Given the description of an element on the screen output the (x, y) to click on. 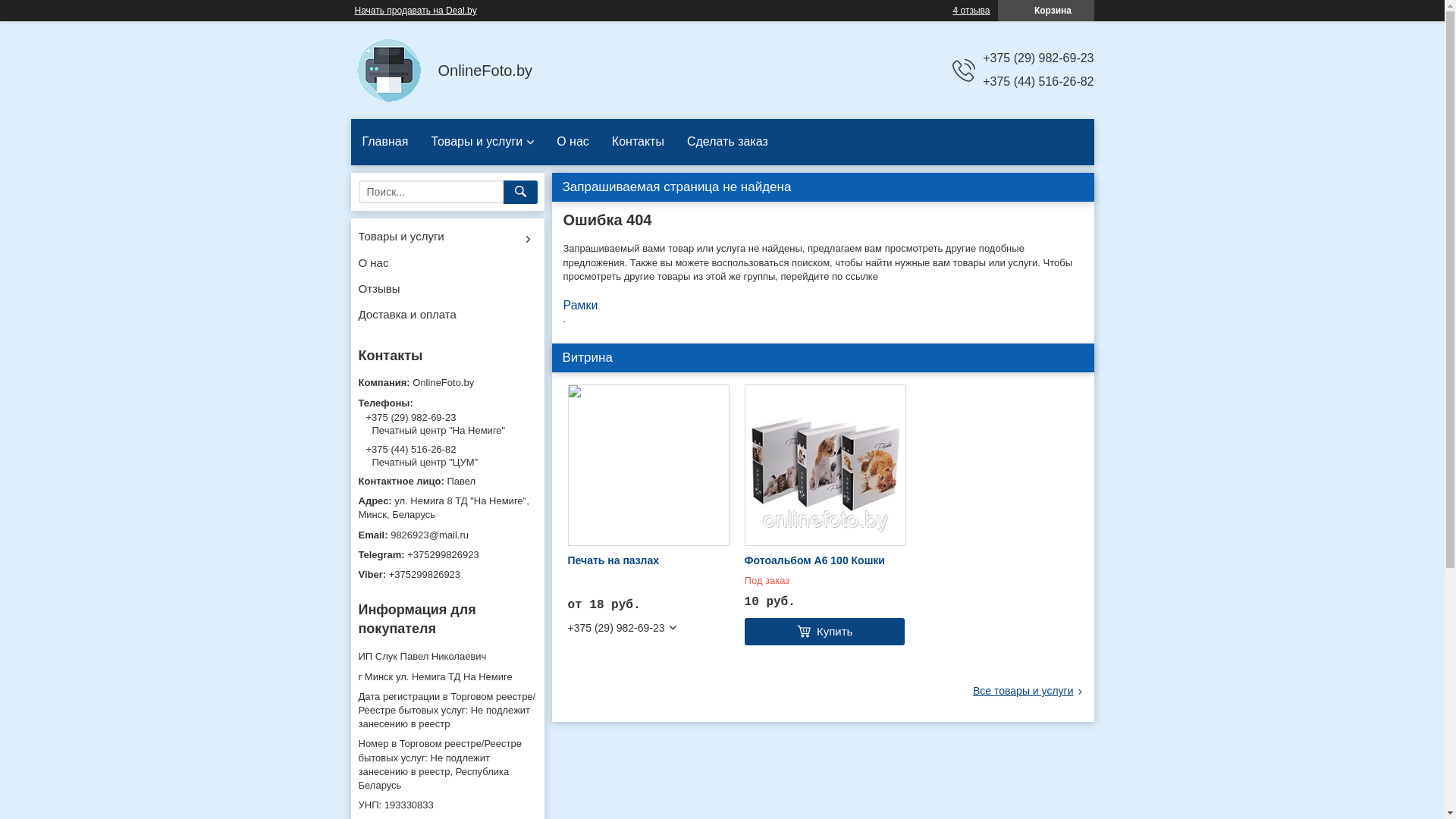
9826923@mail.ru Element type: text (446, 534)
OnlineFoto.by Element type: hover (388, 69)
